Given the description of an element on the screen output the (x, y) to click on. 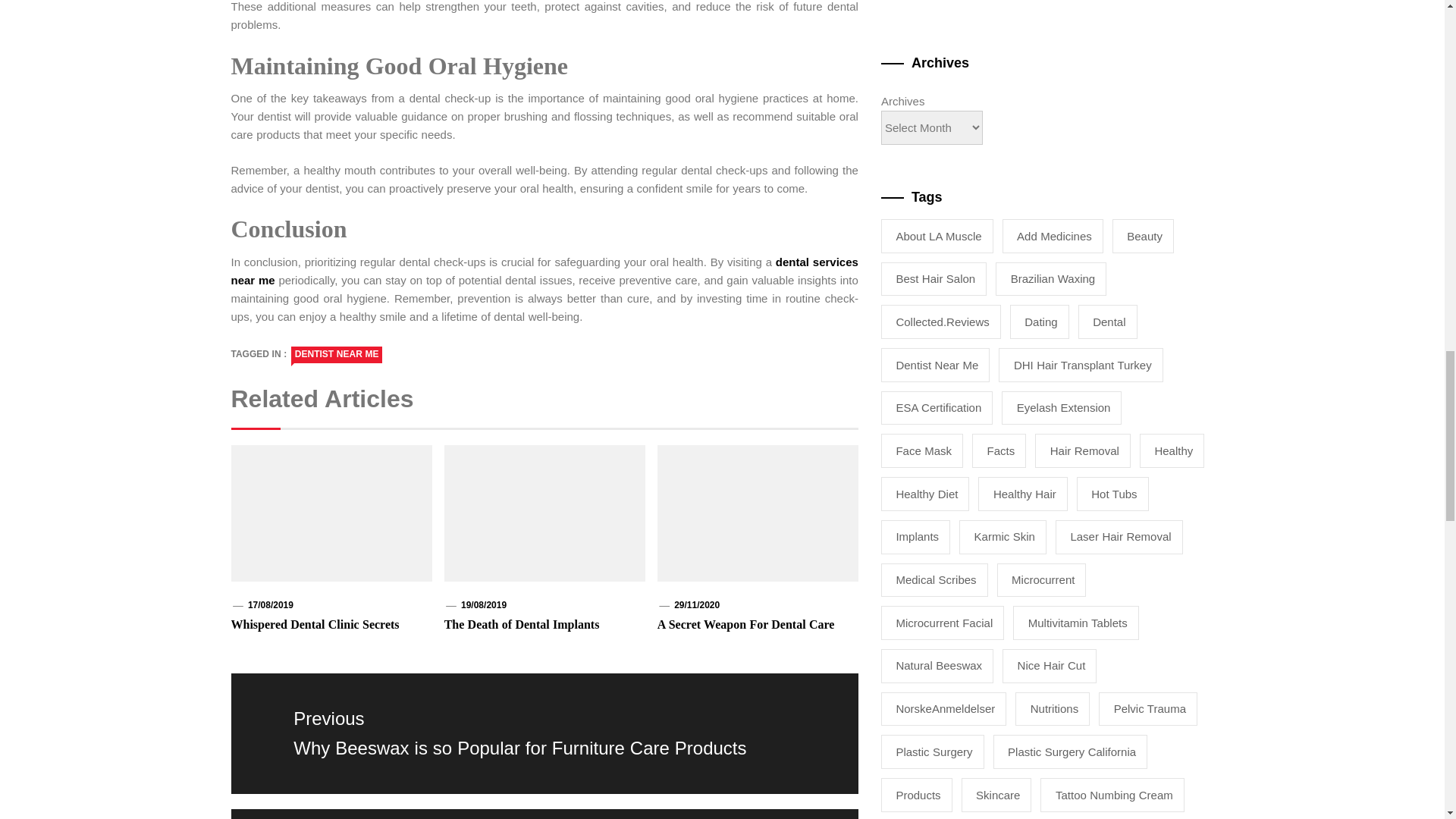
DENTIST NEAR ME (336, 354)
A Secret Weapon For Dental Care (746, 624)
dental services near me (543, 270)
The Death of Dental Implants (521, 624)
Whispered Dental Clinic Secrets (314, 624)
